Given the description of an element on the screen output the (x, y) to click on. 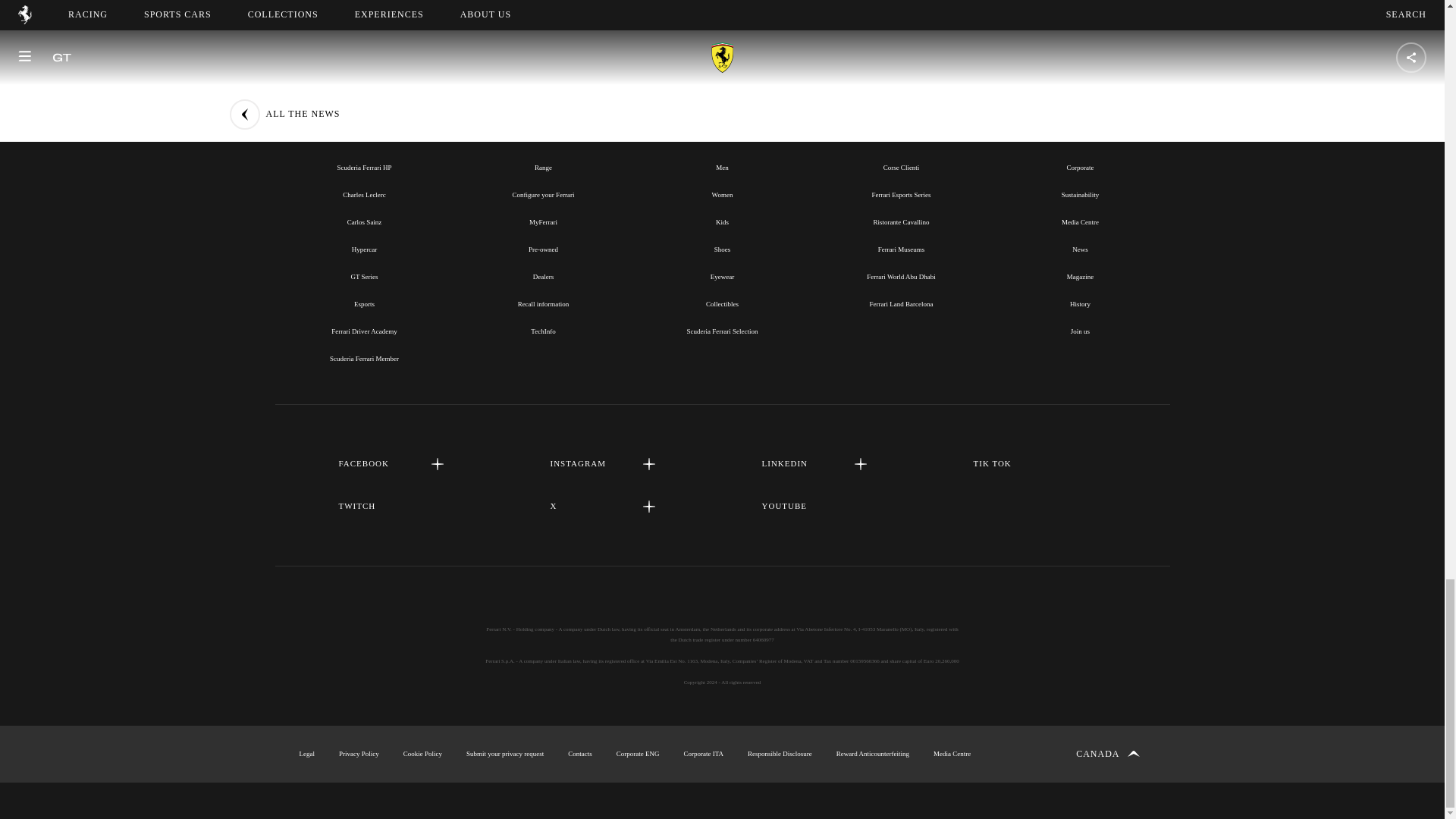
SUBSCRIBE (721, 7)
Change country (1106, 753)
SPORTS CARS (542, 133)
Range (542, 167)
Ferrari Driver Academy (363, 330)
RACING (363, 133)
Scuderia Ferrari Member (364, 358)
Esports (363, 303)
Hypercar (364, 249)
Scuderia Ferrari HP (363, 167)
GT Series (363, 276)
Charles Leclerc (363, 194)
Configure your Ferrari (543, 194)
Carlos Sainz (364, 222)
MyFerrari (543, 222)
